Given the description of an element on the screen output the (x, y) to click on. 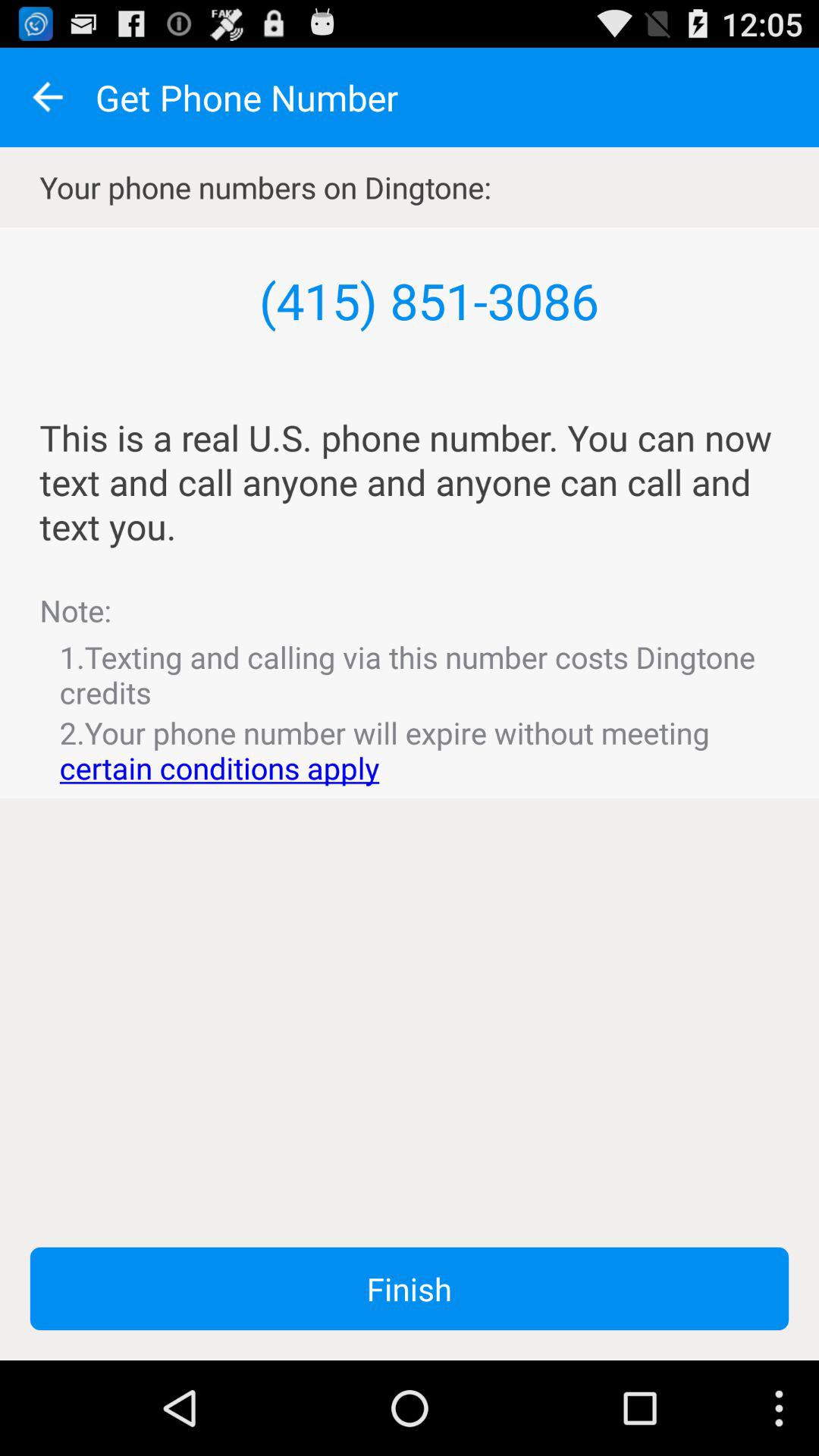
turn off item below 1 texting and icon (409, 750)
